Given the description of an element on the screen output the (x, y) to click on. 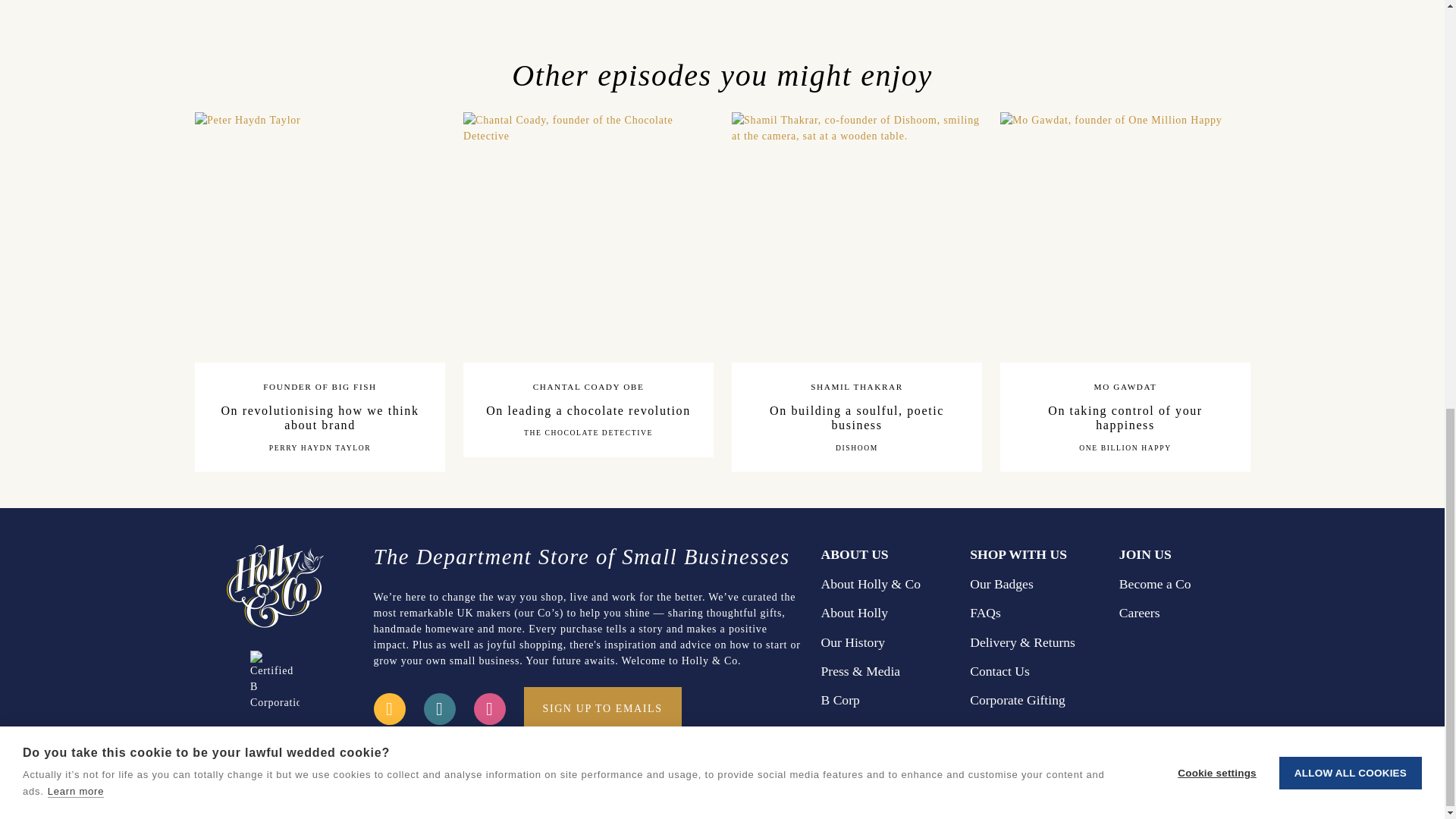
Audioboom player (989, 10)
